Given the description of an element on the screen output the (x, y) to click on. 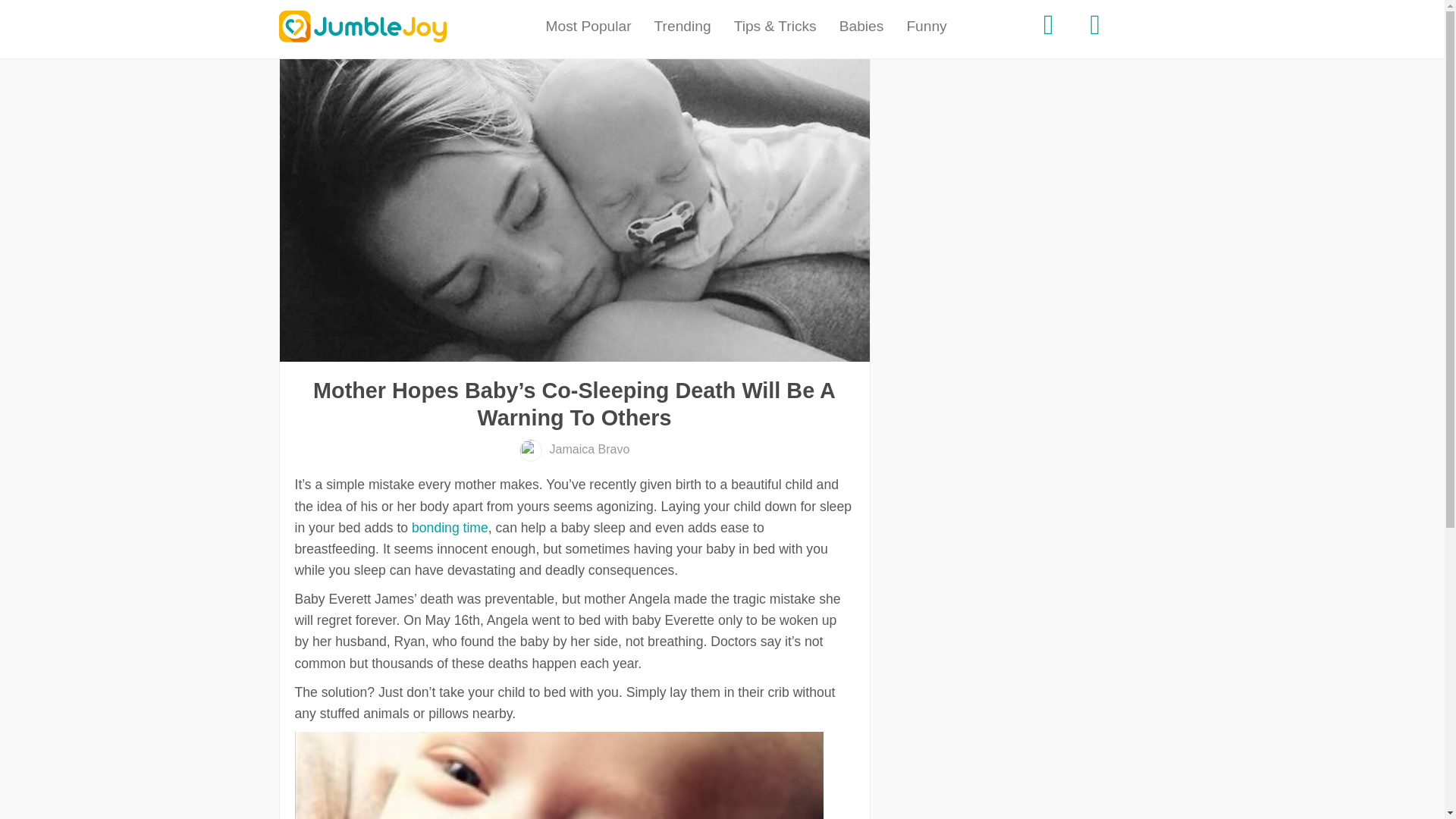
bonding time (449, 527)
Babies (861, 26)
bonding time (449, 527)
Trending (682, 26)
Funny (926, 26)
Most Popular (588, 26)
